Given the description of an element on the screen output the (x, y) to click on. 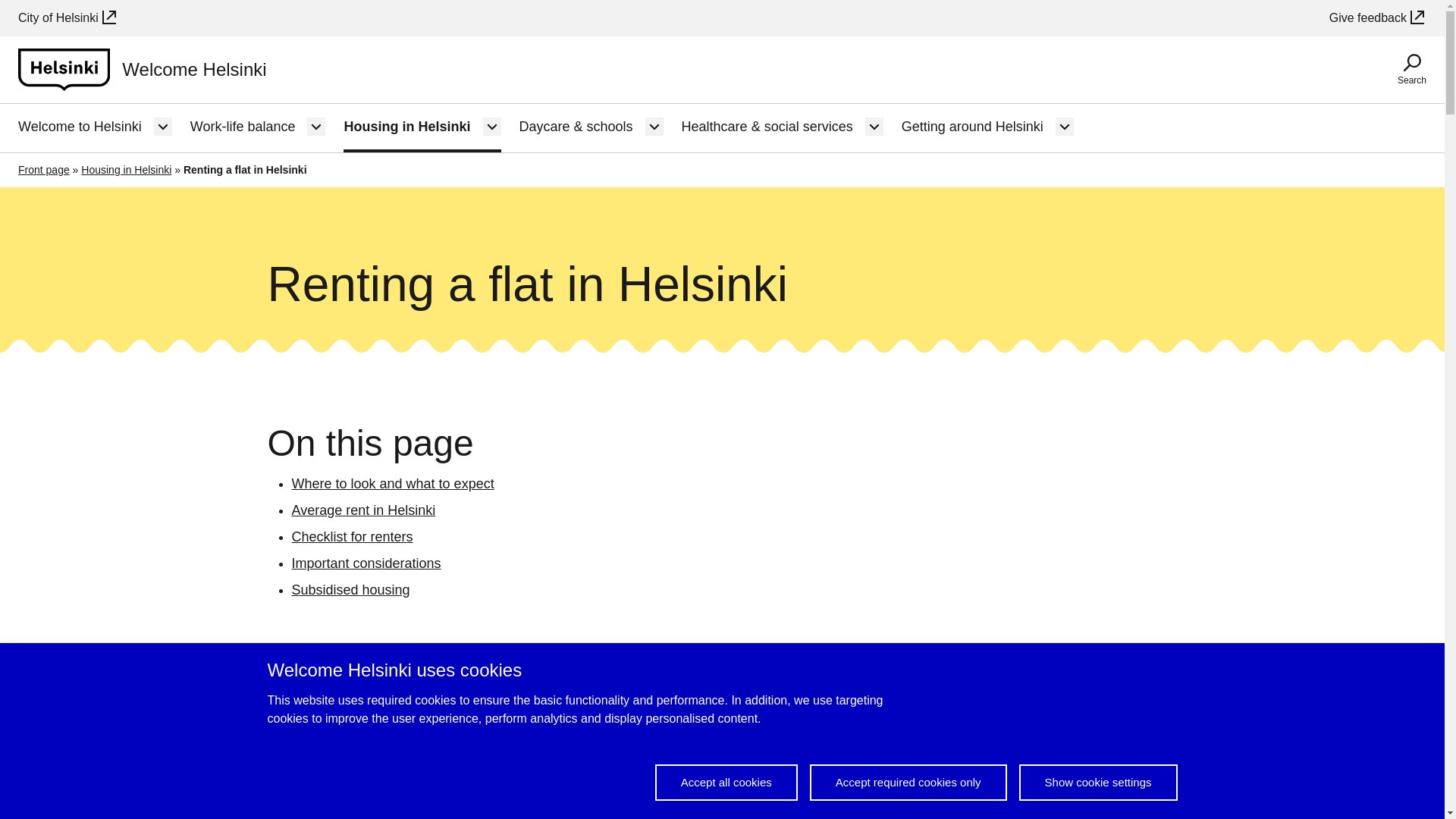
City of Helsinki (67, 18)
Show cookie settings (1098, 782)
Toggle submenu for Housing in Helsinki (490, 126)
Accept all cookies (726, 782)
Toggle submenu for Work-life balance (315, 126)
Work-life balance (242, 127)
Search (1411, 69)
Give feedback (1377, 18)
Welcome to Helsinki (79, 127)
Toggle submenu for Welcome to Helsinki (162, 126)
Search (1411, 69)
Welcome Helsinki (141, 69)
Housing in Helsinki (406, 127)
Accept required cookies only (908, 782)
